Given the description of an element on the screen output the (x, y) to click on. 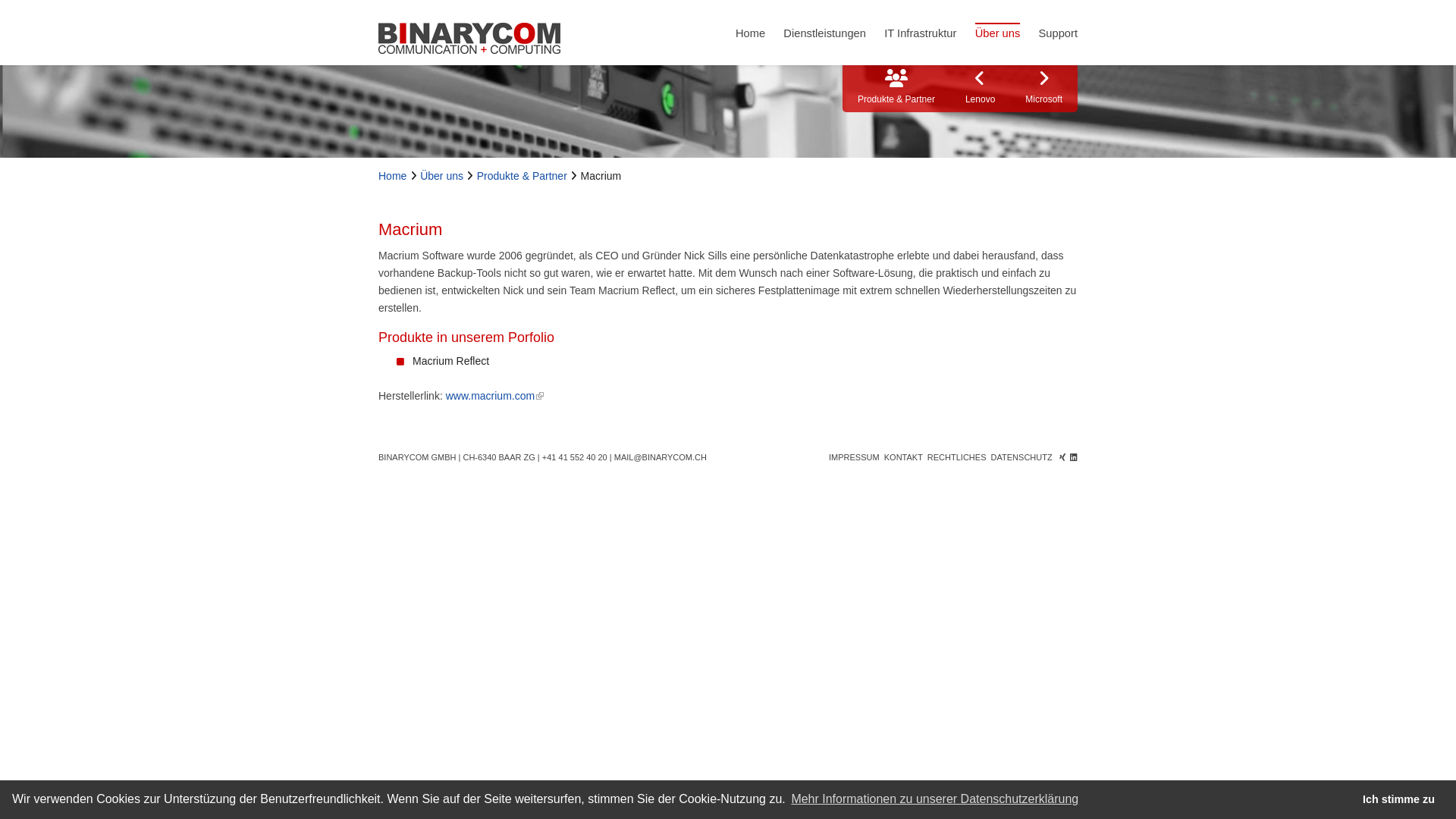
www.macrium.com Element type: text (494, 395)
DATENSCHUTZ Element type: text (1021, 456)
Home Element type: text (750, 32)
IT Infrastruktur Element type: text (920, 32)
IMPRESSUM Element type: text (853, 456)
+41 41 552 40 20 Element type: text (574, 456)
BINARYCOM GMBH | CH-6340 BAAR ZG Element type: text (456, 456)
Produkte & Partner Element type: text (896, 88)
KONTAKT Element type: text (903, 456)
Dienstleistungen Element type: text (824, 32)
Lenovo Element type: text (980, 88)
MAIL@BINARYCOM.CH Element type: text (660, 456)
RECHTLICHES Element type: text (956, 456)
Produkte & Partner Element type: text (523, 175)
Linkedin Profil besuchen Element type: hover (1073, 456)
Home Element type: text (393, 175)
Microsoft Element type: text (1043, 88)
Support Element type: text (1057, 32)
XING Profil besuchen Element type: hover (1062, 456)
